Given the description of an element on the screen output the (x, y) to click on. 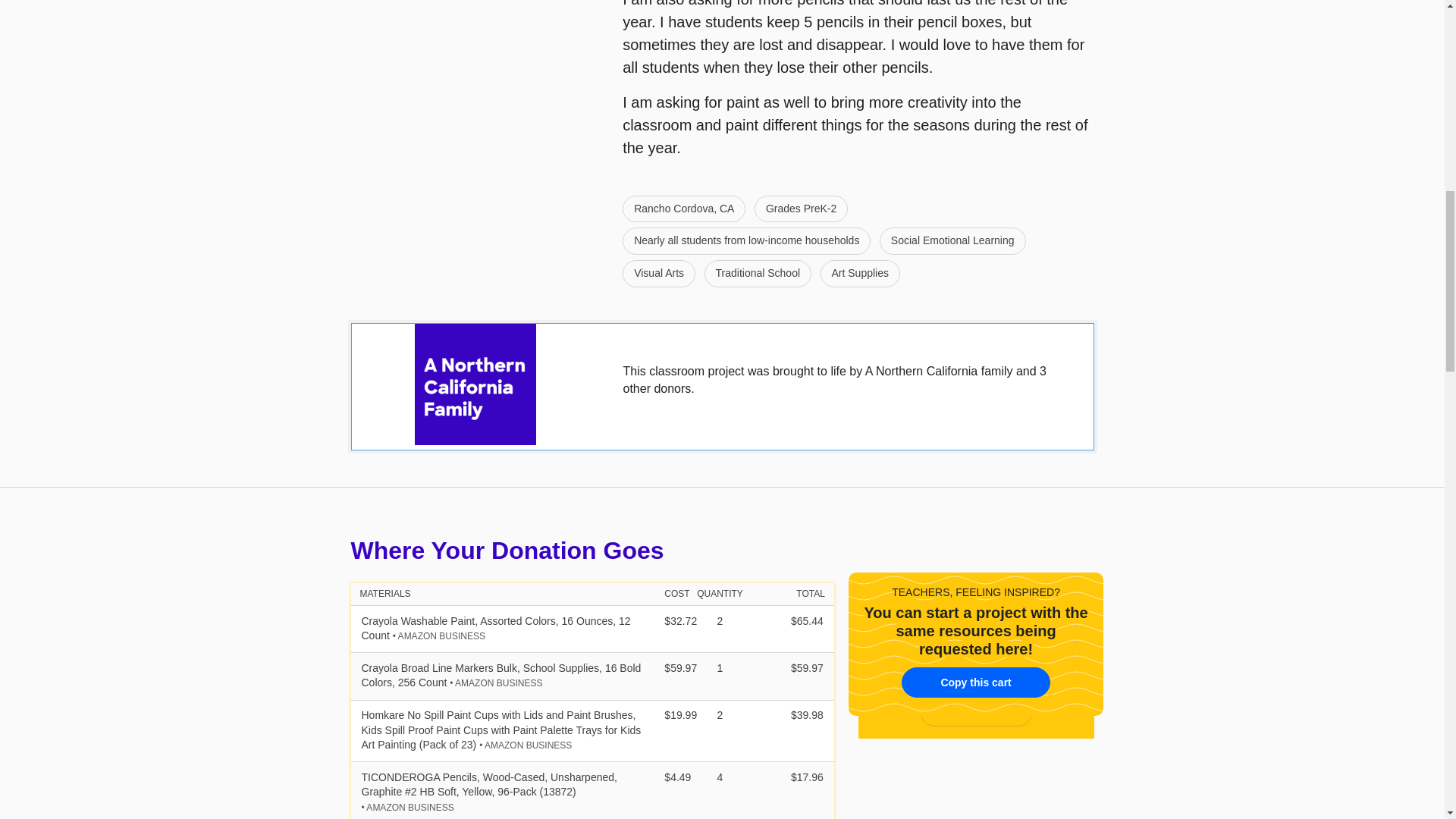
See other Visual Arts projects (659, 273)
See other Traditional projects (756, 273)
